Given the description of an element on the screen output the (x, y) to click on. 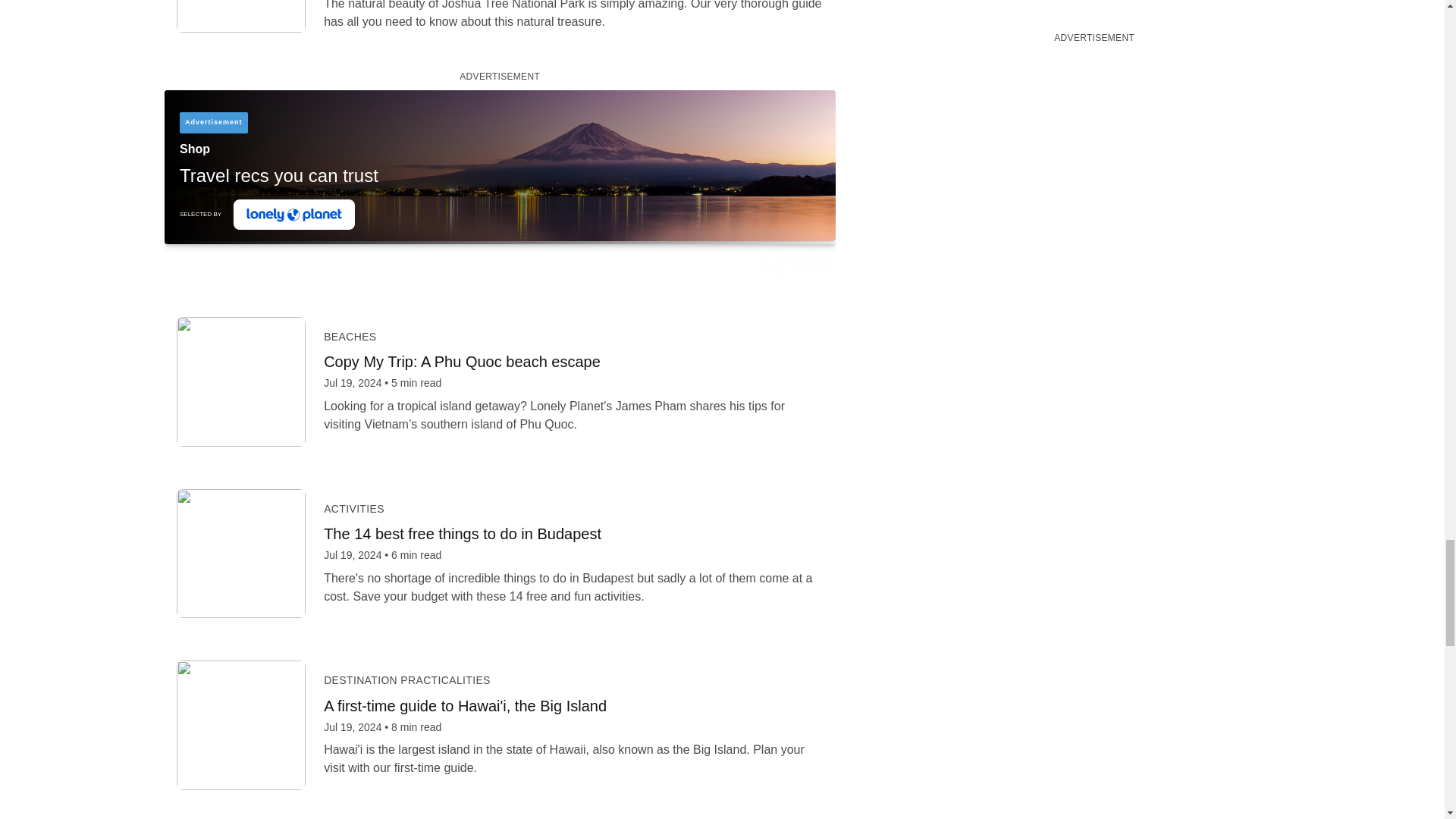
Copy My Trip: A Phu Quoc beach escape (573, 361)
3rd party ad content (498, 183)
The 14 best free things to do in Budapest (573, 533)
A first-time guide to Hawai'i, the Big Island (573, 705)
